Given the description of an element on the screen output the (x, y) to click on. 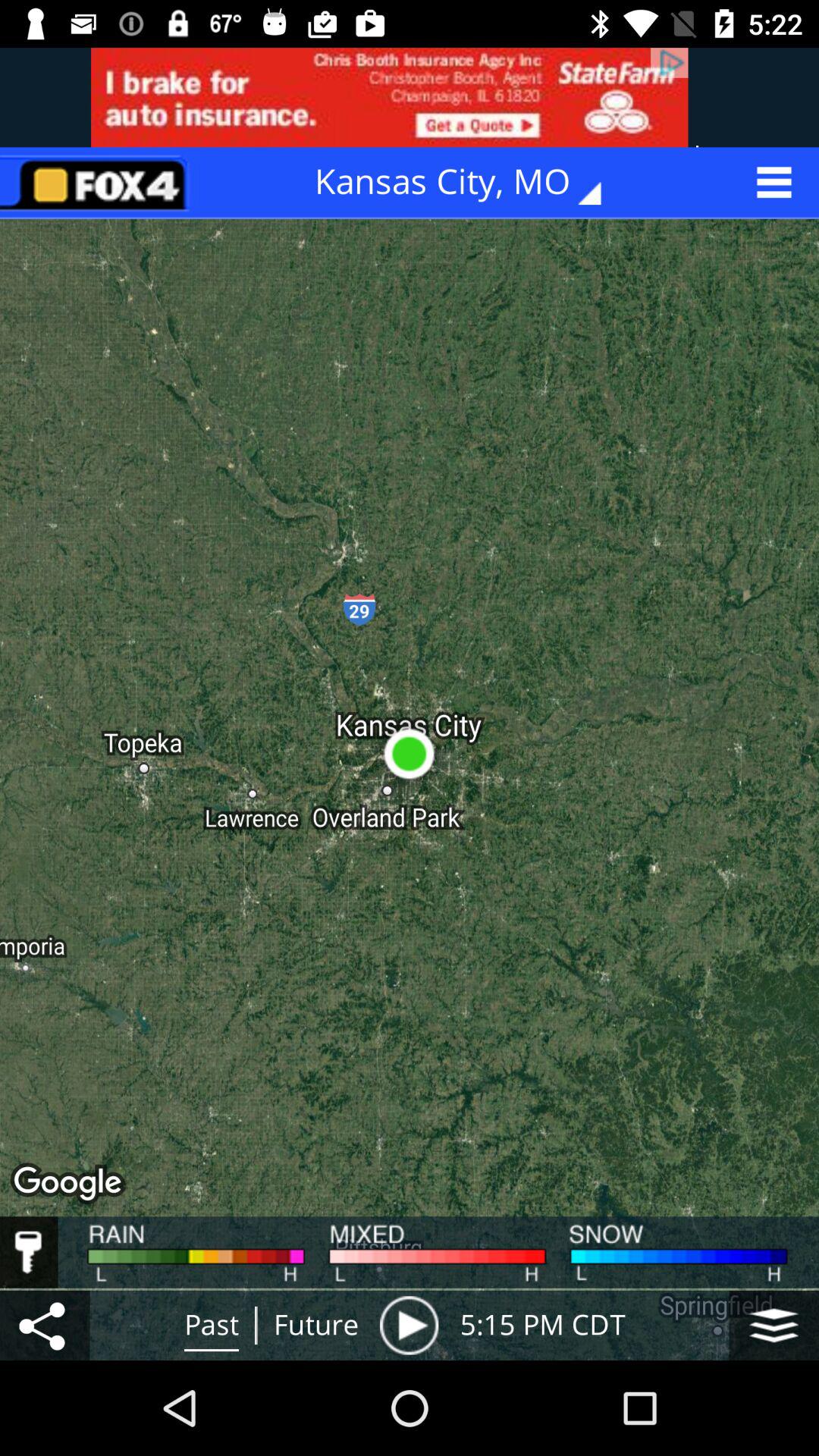
view past weather (409, 1325)
